Given the description of an element on the screen output the (x, y) to click on. 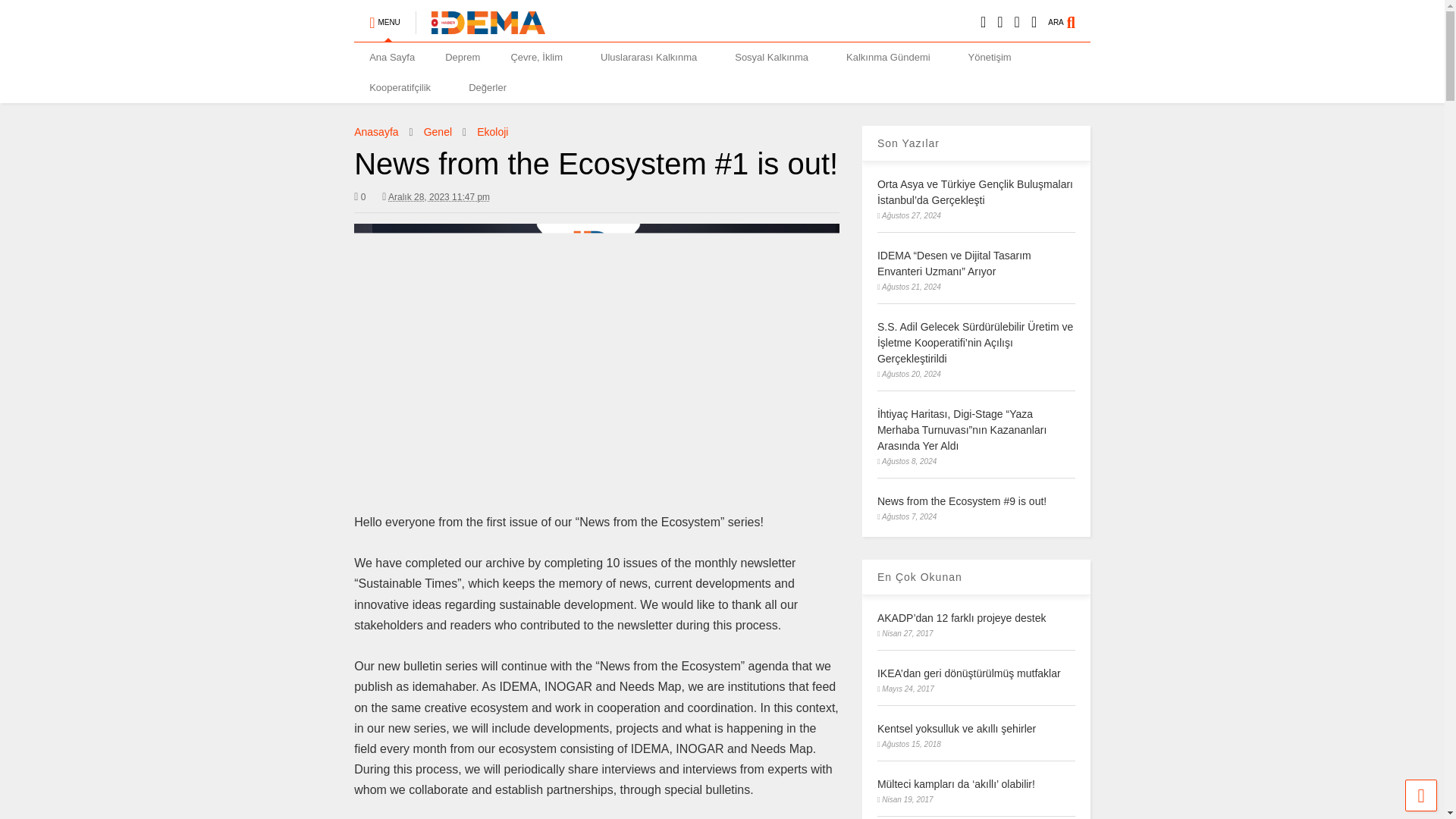
ARA (1069, 15)
MENU (383, 15)
Ana Sayfa (391, 57)
Deprem (462, 57)
IDEMA HABER (479, 26)
